Given the description of an element on the screen output the (x, y) to click on. 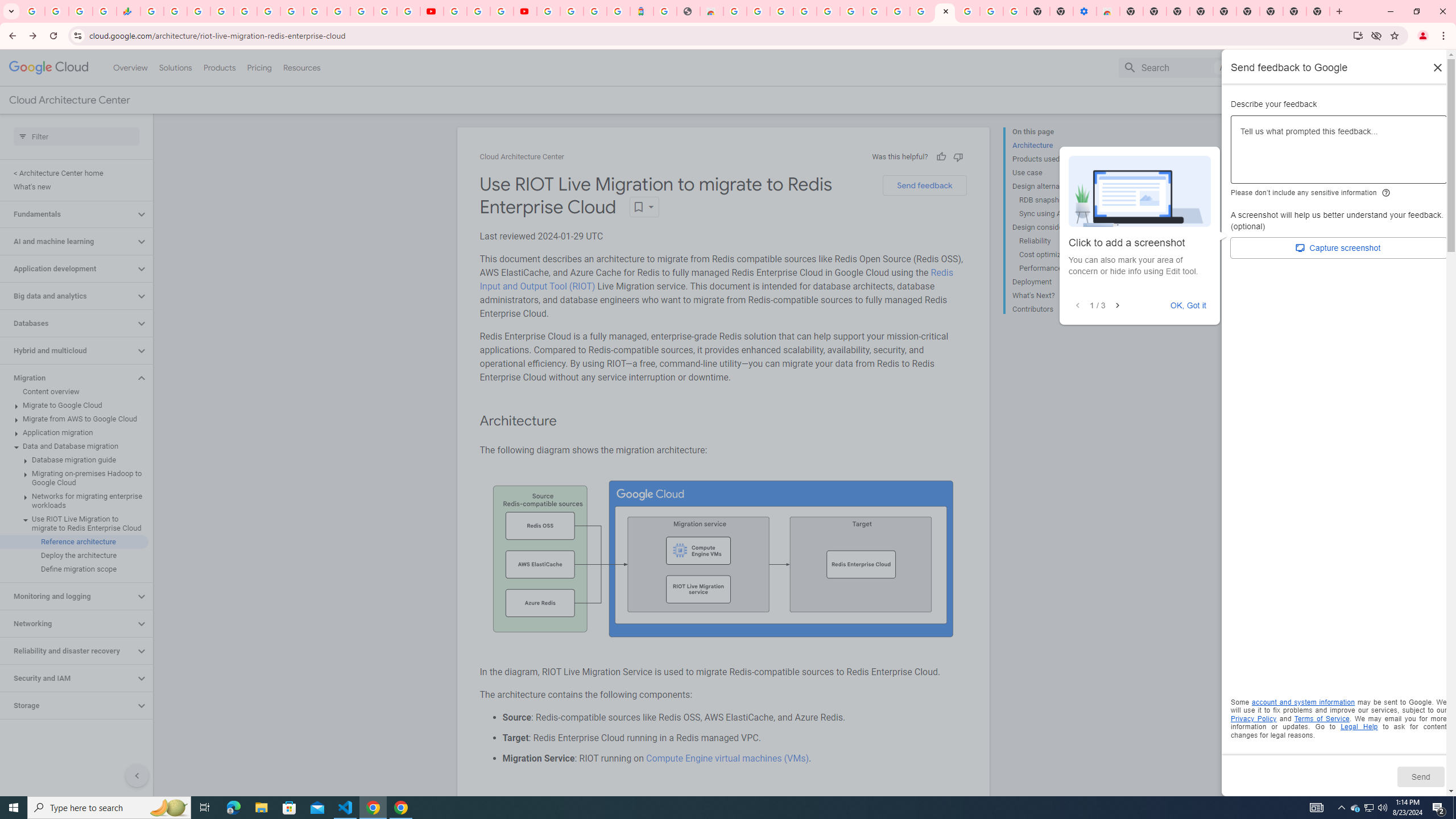
Chrome Web Store - Household (711, 11)
Migrate to Google Cloud (74, 404)
Cost optimization (1062, 254)
Sign in - Google Accounts (571, 11)
Sign in - Google Accounts (968, 11)
Application development (67, 269)
Ad Settings (804, 11)
Fundamentals (67, 214)
Application migration (74, 432)
